Given the description of an element on the screen output the (x, y) to click on. 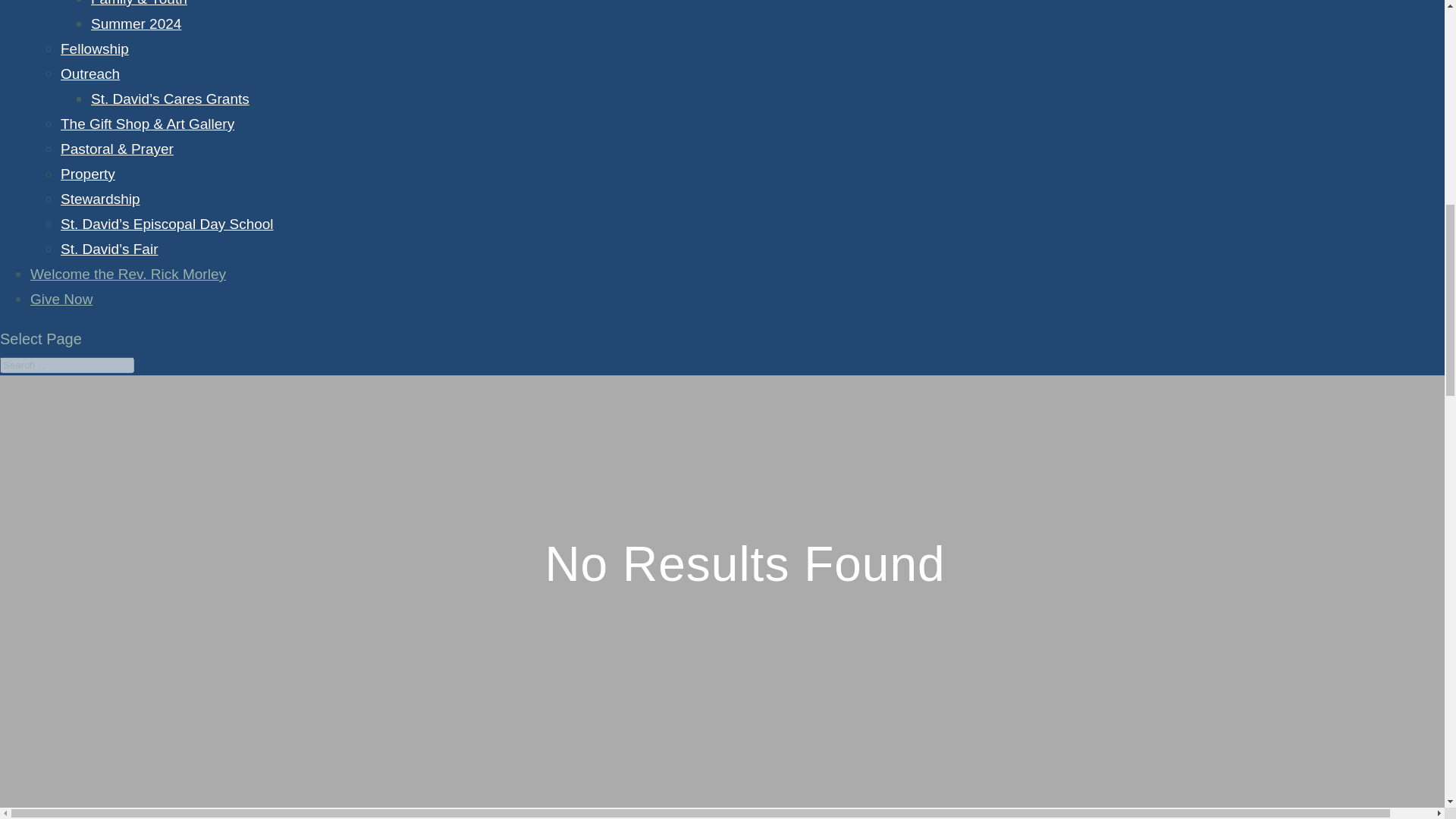
Search for: (66, 365)
Outreach (90, 73)
Stewardship (100, 198)
Summer 2024 (135, 23)
Fellowship (95, 48)
Property (88, 173)
